Given the description of an element on the screen output the (x, y) to click on. 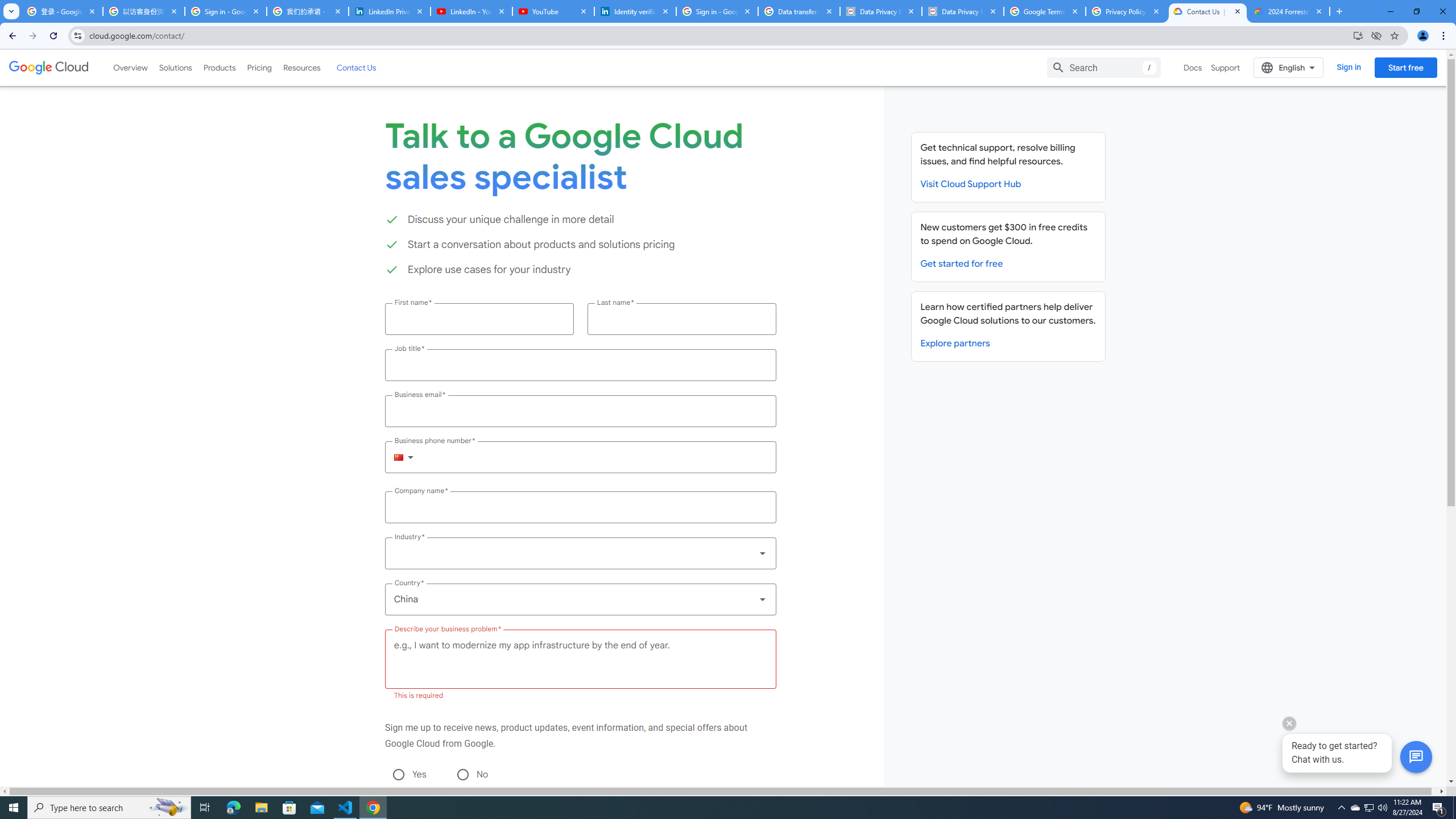
Pricing (259, 67)
YouTube (552, 11)
Job title * (580, 364)
LinkedIn Privacy Policy (389, 11)
Yes (398, 773)
Sign in - Google Accounts (225, 11)
Last name * (681, 318)
Start free (1405, 67)
